Given the description of an element on the screen output the (x, y) to click on. 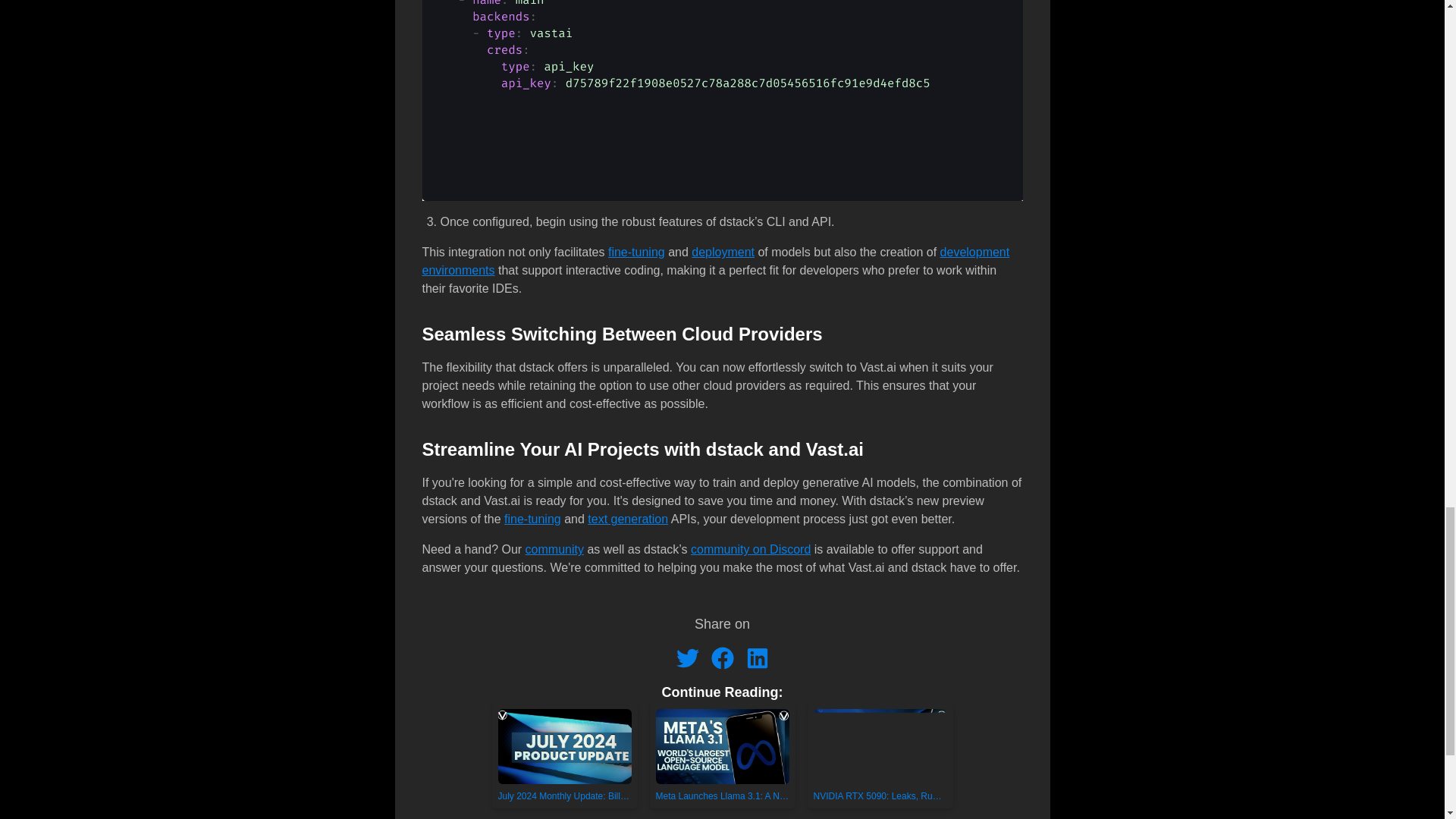
fine-tuning (636, 251)
Meta Launches Llama 3.1: A New Era in Open-Source AI (722, 755)
NVIDIA RTX 5090: Leaks, Rumors, and Next-Gen GPU Performance (879, 755)
development environments (715, 260)
community on Discord (750, 549)
deployment (722, 251)
community (554, 549)
Meta Launches Llama 3.1: A New Era in Open-Source AI (721, 755)
fine-tuning (531, 518)
NVIDIA RTX 5090: Leaks, Rumors, and Next-Gen GPU Performance (879, 755)
text generation (628, 518)
